Given the description of an element on the screen output the (x, y) to click on. 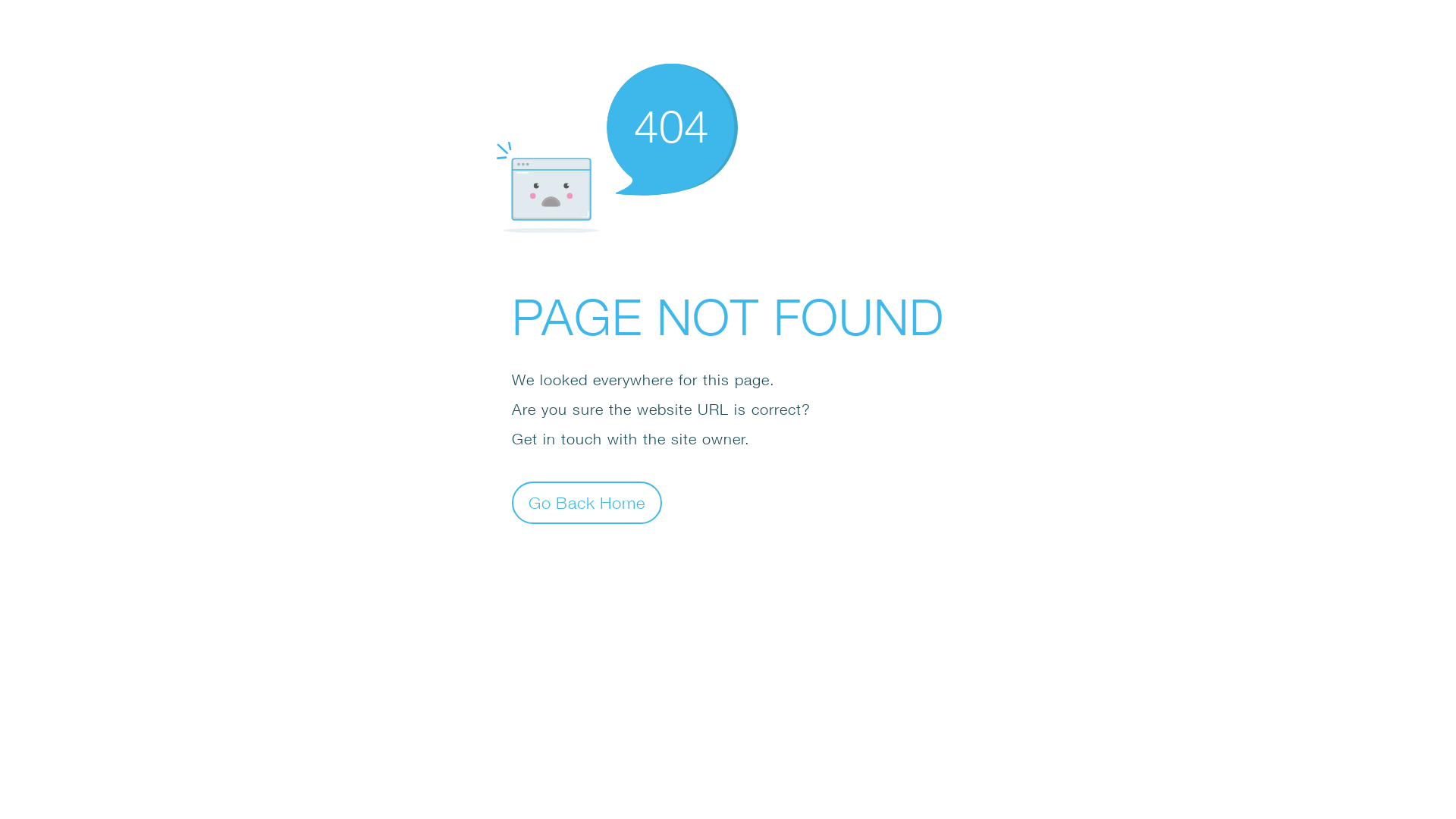
Go Back Home Element type: text (586, 502)
